Given the description of an element on the screen output the (x, y) to click on. 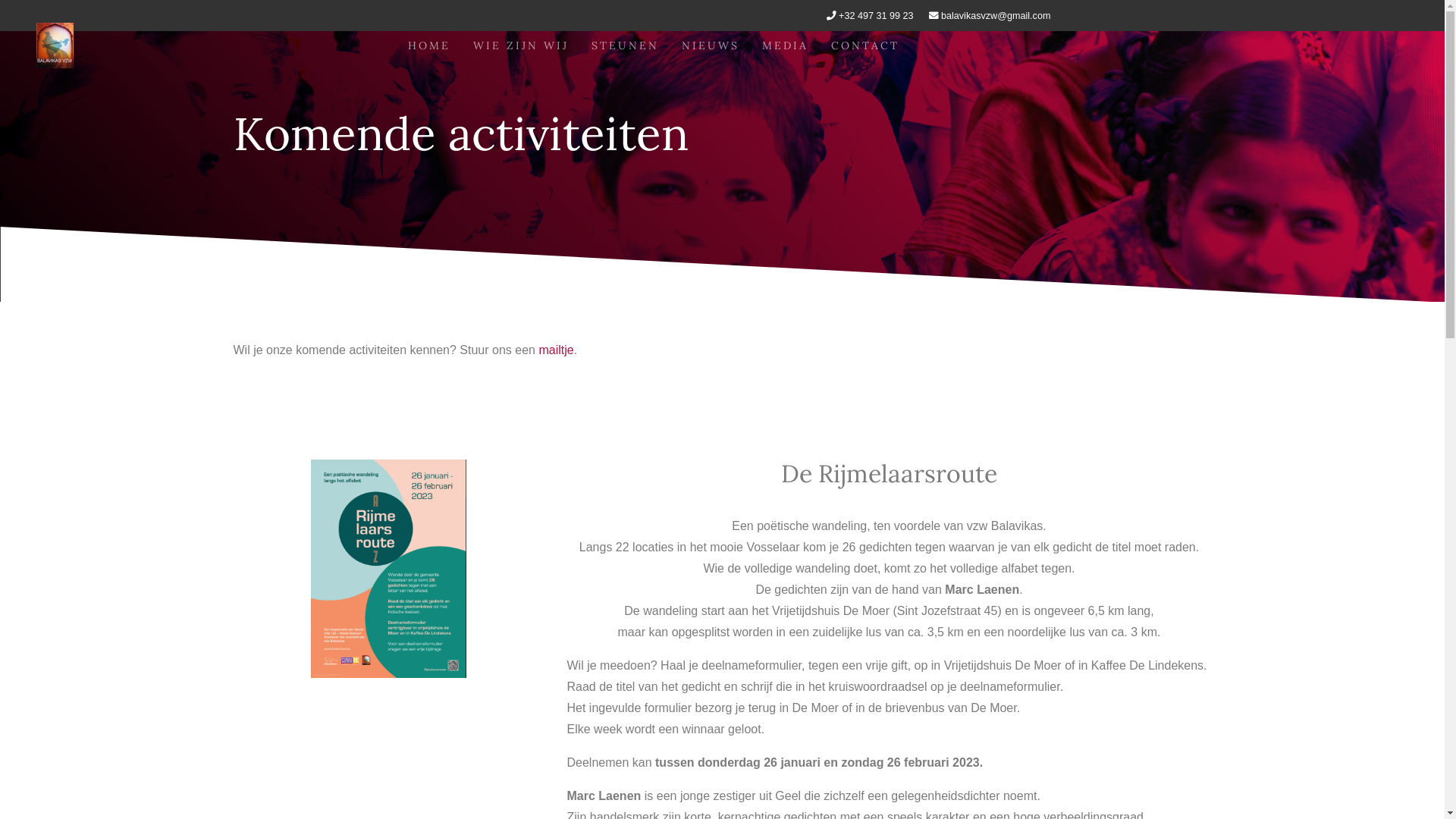
WIE ZIJN WIJ Element type: text (520, 45)
NIEUWS Element type: text (710, 45)
HOME Element type: text (428, 45)
CONTACT Element type: text (864, 45)
MEDIA Element type: text (784, 45)
STEUNEN Element type: text (624, 45)
balavikasvzw@gmail.com Element type: text (995, 15)
+32 497 31 99 23 Element type: text (875, 15)
mailtje Element type: text (555, 348)
